Given the description of an element on the screen output the (x, y) to click on. 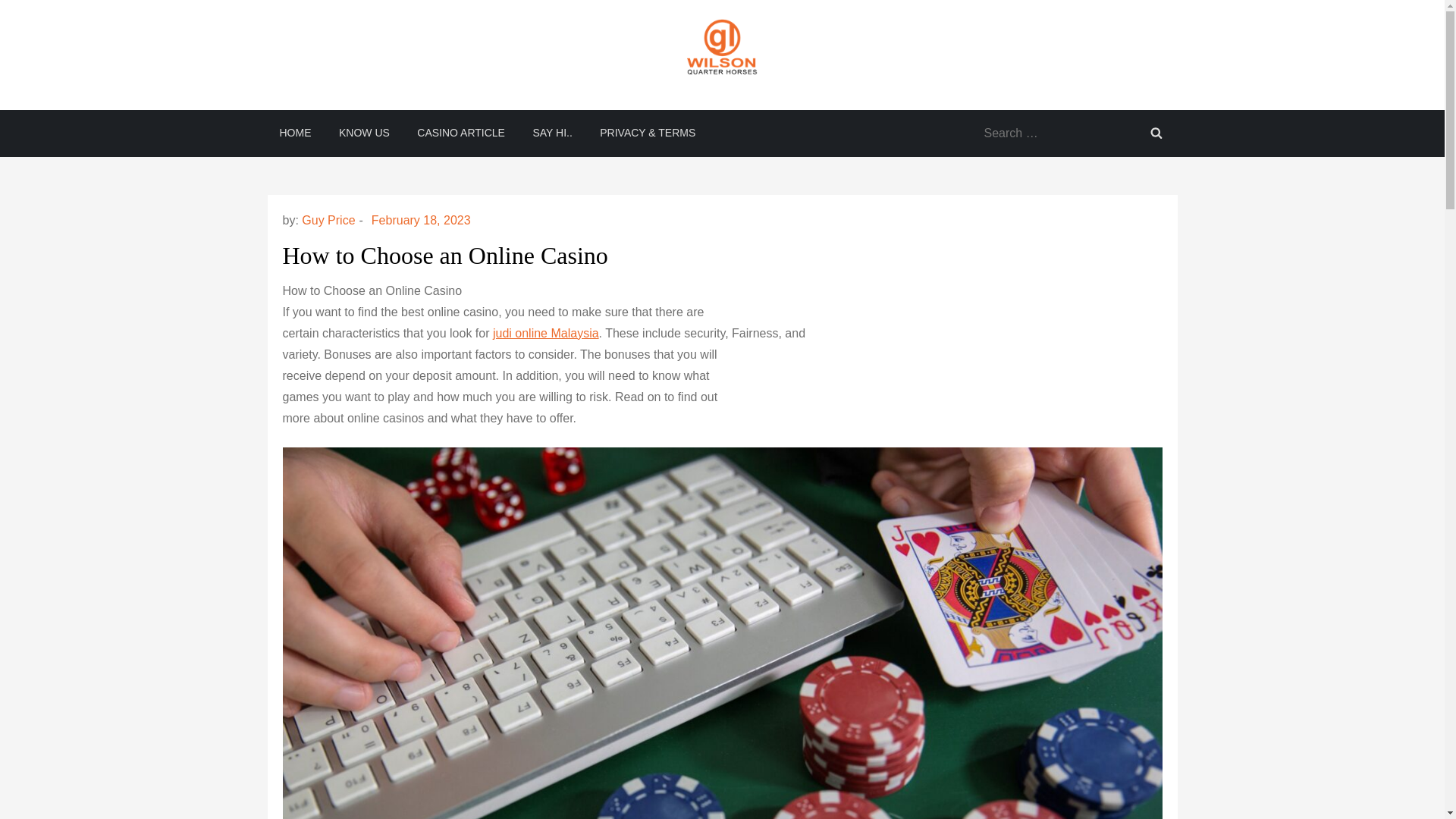
Search (1155, 132)
CASINO ARTICLE (460, 132)
judi online Malaysia (545, 332)
KNOW US (363, 132)
HOME (294, 132)
SAY HI.. (551, 132)
February 18, 2023 (420, 219)
GL Wilson Quarter Horses (397, 104)
Guy Price (328, 219)
